Given the description of an element on the screen output the (x, y) to click on. 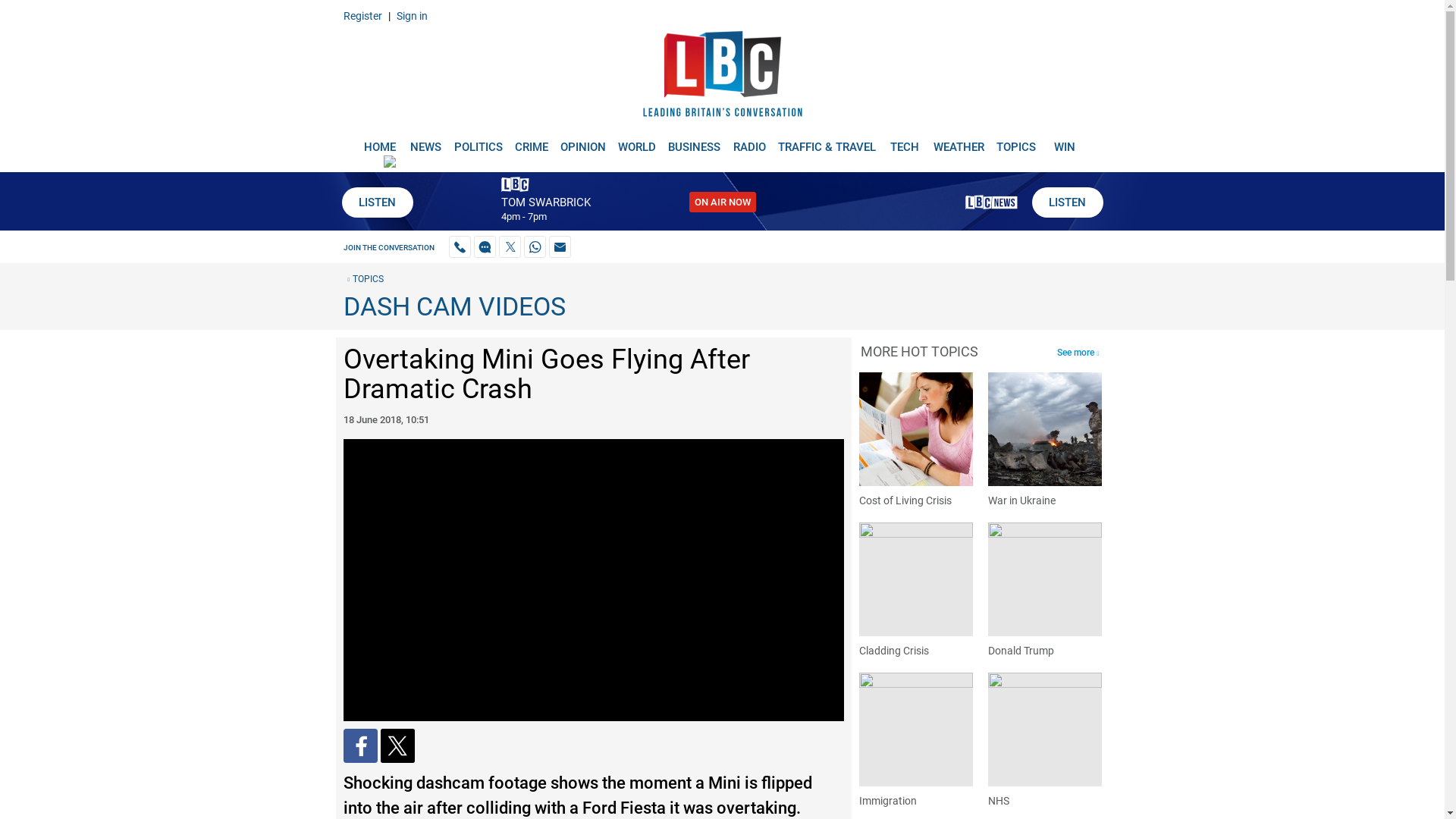
WEATHER (958, 140)
TOPICS (363, 278)
LISTEN (1066, 202)
BUSINESS (694, 140)
WIN (1064, 140)
OPINION (582, 140)
LISTEN (376, 202)
Register (361, 15)
HOME (379, 140)
Sign in (411, 15)
NEWS (425, 140)
TOM SWARBRICK (544, 202)
POLITICS (478, 140)
TOPICS (1016, 140)
RADIO (748, 140)
